Given the description of an element on the screen output the (x, y) to click on. 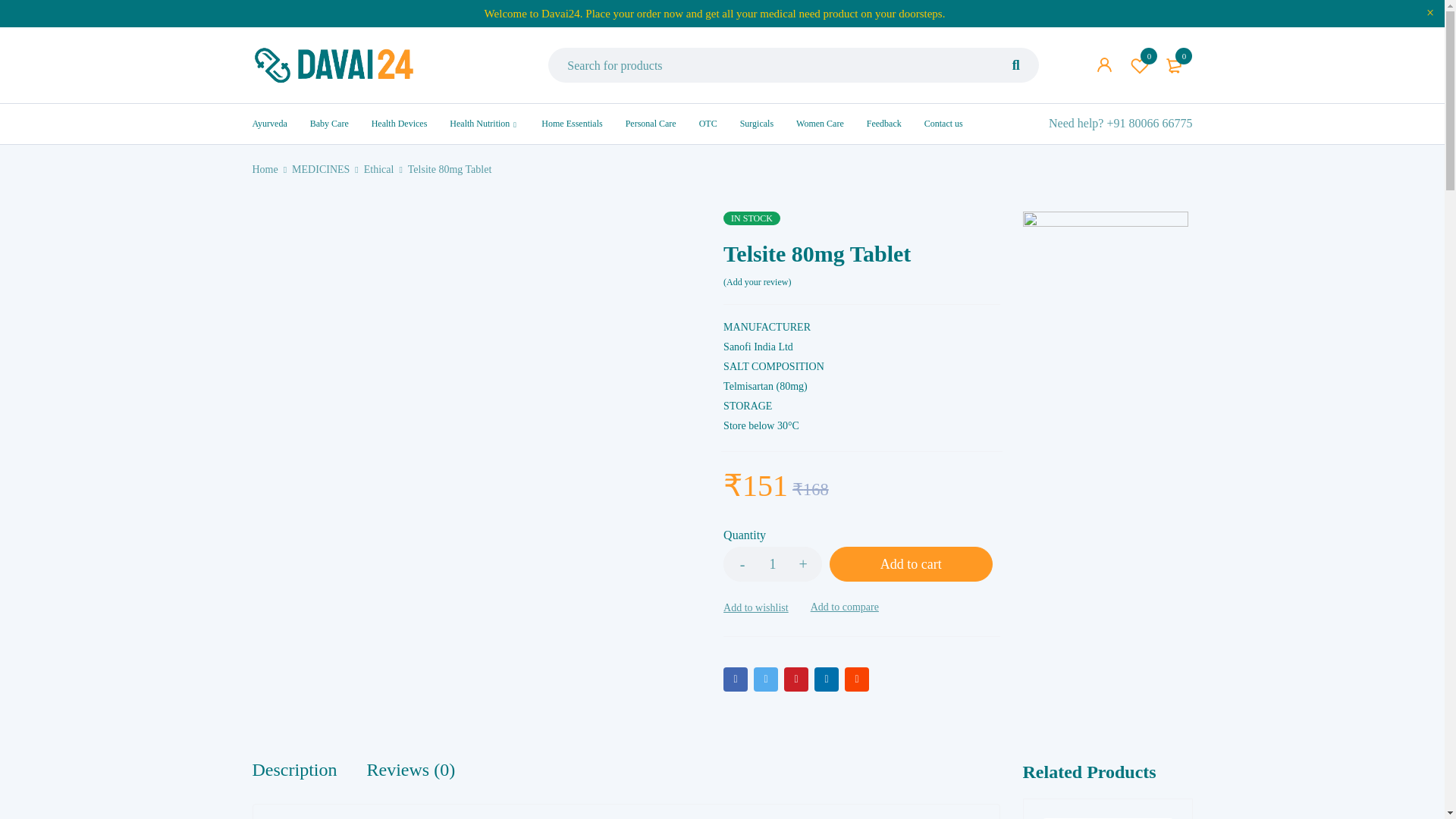
1 (772, 564)
View your shopping cart (1174, 64)
Baby Care (329, 123)
Ethical (379, 169)
MEDICINES (320, 169)
Feedback (883, 123)
Surgicals (756, 123)
- (742, 564)
Search (1015, 99)
Health Devices (399, 123)
Health Nutrition (479, 123)
Women Care (820, 123)
Contact us (943, 123)
Personal Care (651, 123)
Wishlist (1139, 64)
